Given the description of an element on the screen output the (x, y) to click on. 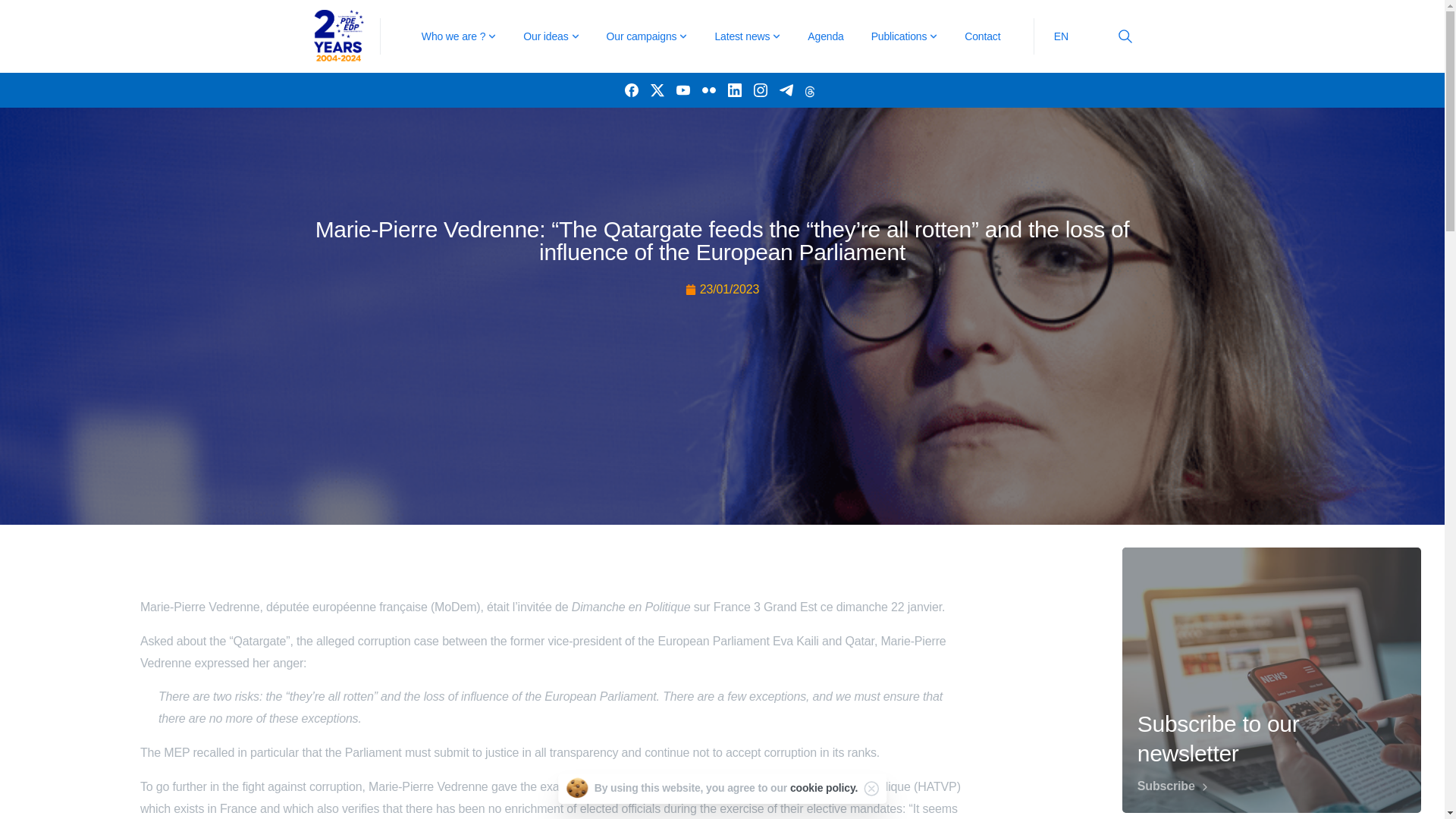
Our ideas (550, 36)
Our campaigns (646, 36)
Publications (903, 36)
Agenda (825, 36)
Contact (982, 36)
Our campaigns (646, 36)
Our ideas (550, 36)
Who we are ? (458, 36)
Latest news (746, 36)
Who we are ? (458, 36)
